Given the description of an element on the screen output the (x, y) to click on. 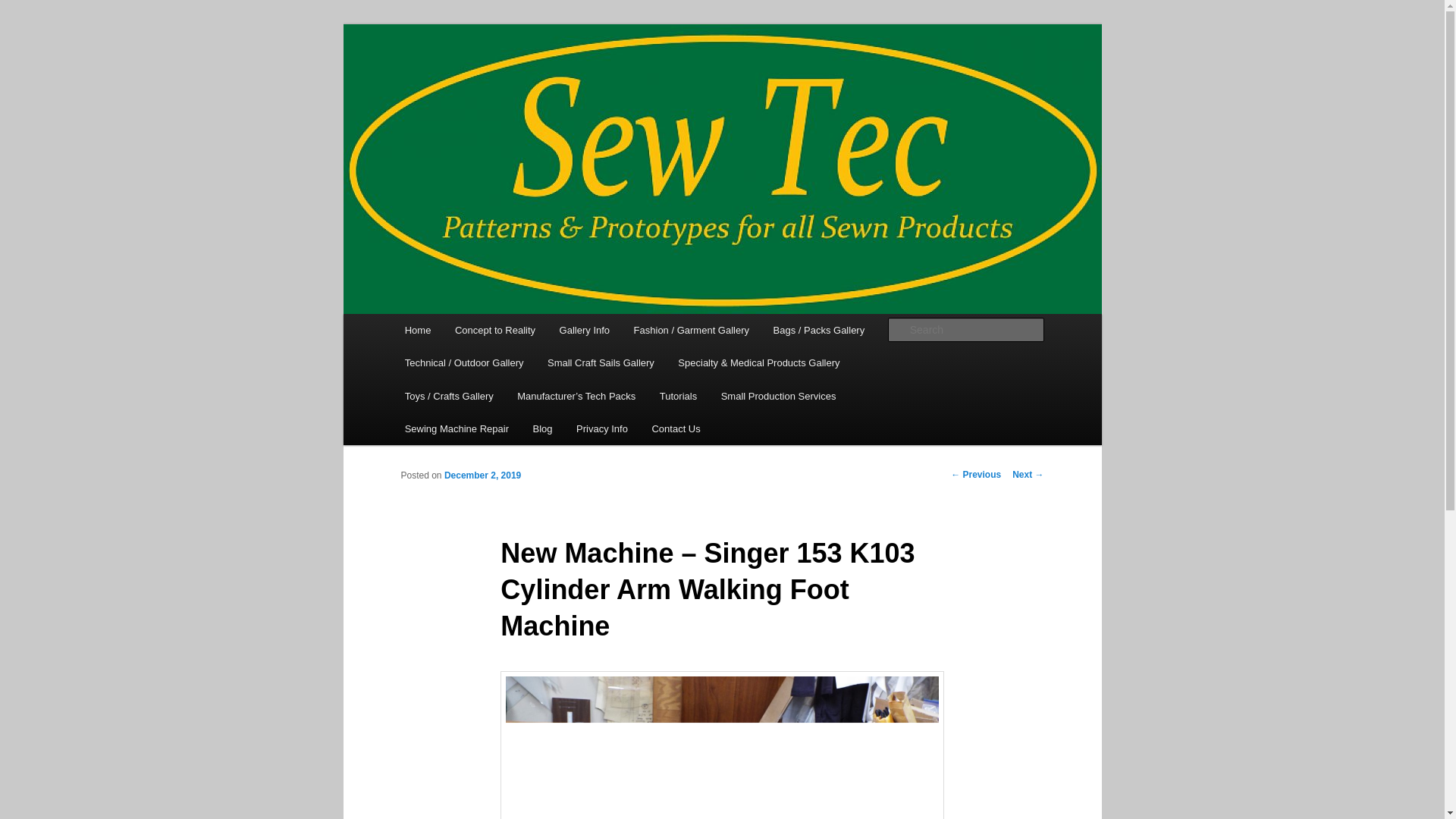
Tutorials (678, 396)
Privacy Info (601, 428)
Small Production Services (778, 396)
Home (417, 329)
Sew Tec (444, 78)
Small Craft Sails Gallery (600, 362)
Gallery Info (584, 329)
2:15 pm (482, 475)
Blog (542, 428)
